Given the description of an element on the screen output the (x, y) to click on. 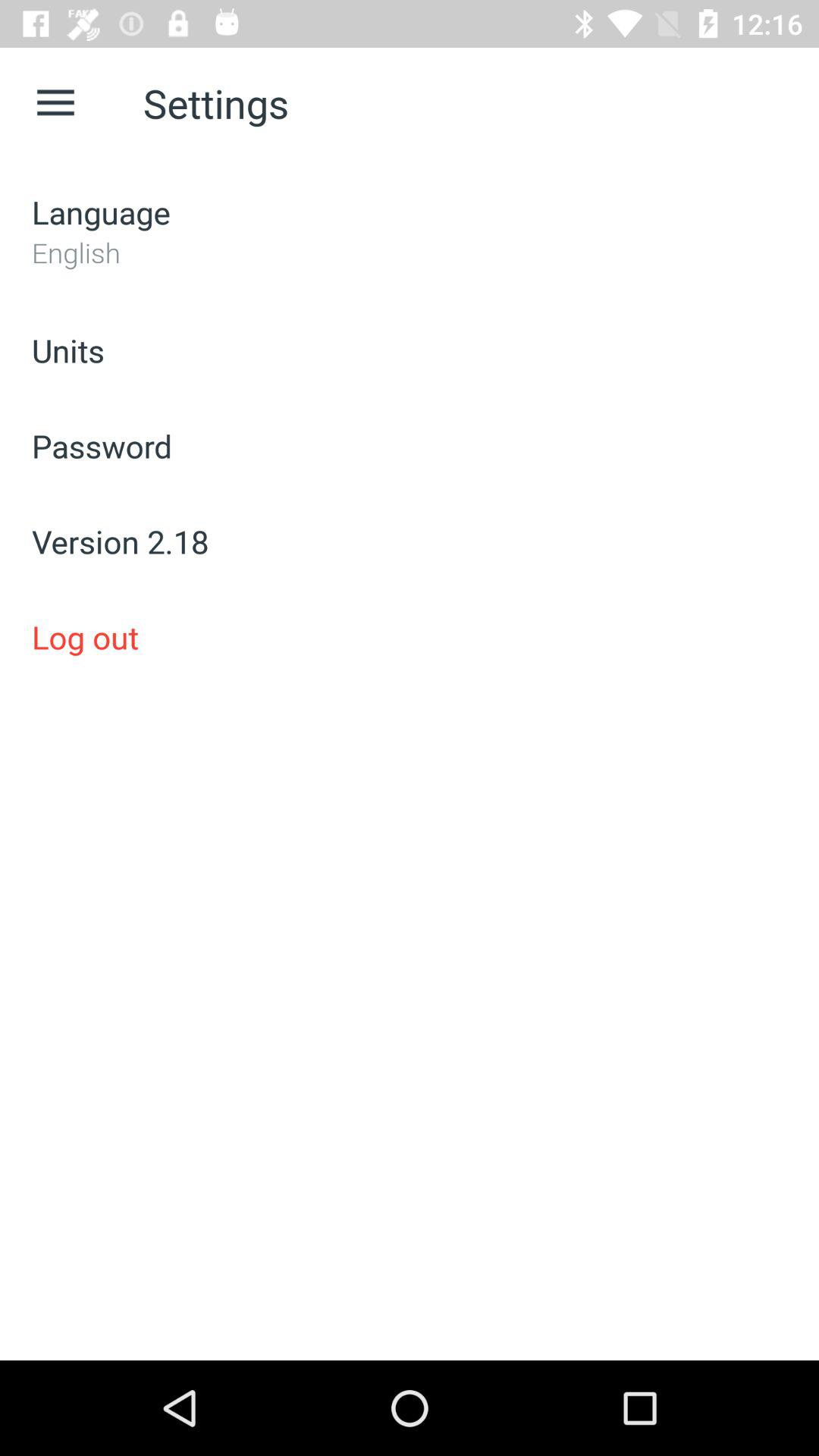
open the icon below password item (409, 541)
